Given the description of an element on the screen output the (x, y) to click on. 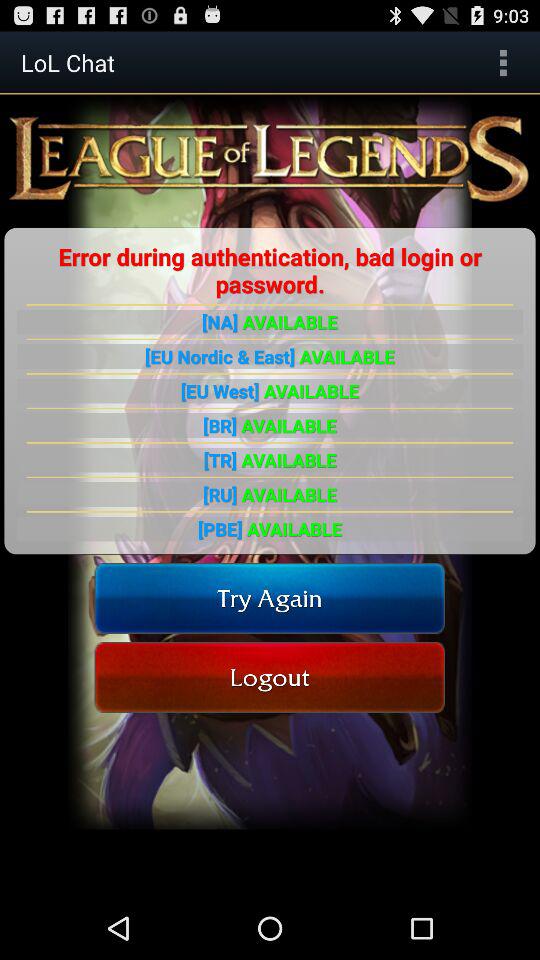
press the logout button (269, 676)
